Given the description of an element on the screen output the (x, y) to click on. 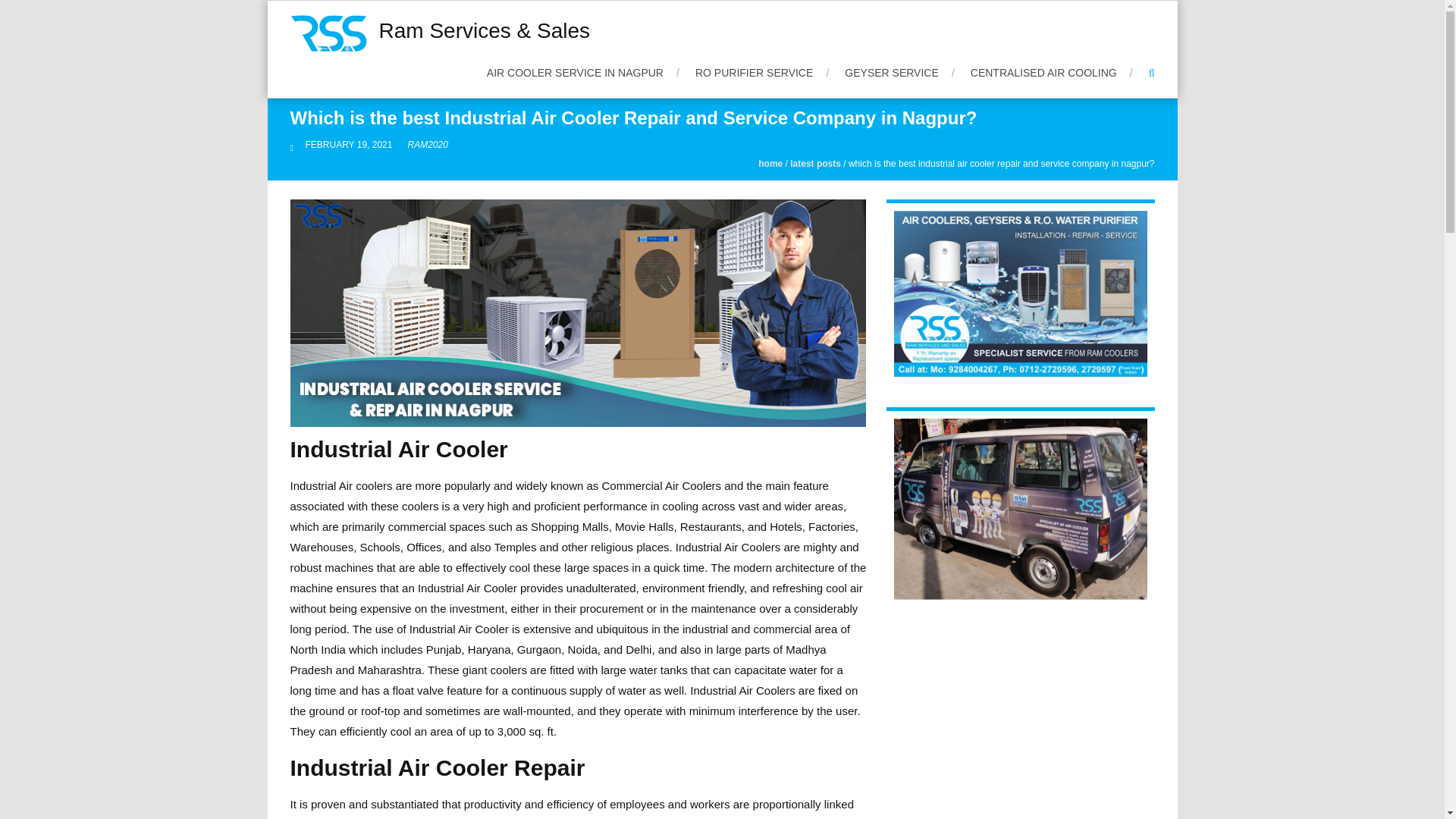
FEBRUARY 19, 2021 (348, 144)
AIR COOLER SERVICE IN NAGPUR (582, 72)
RAM2020 (426, 144)
CENTRALISED AIR COOLING (1051, 72)
home (770, 163)
GEYSER SERVICE (898, 72)
latest posts (815, 163)
RO PURIFIER SERVICE (761, 72)
